Given the description of an element on the screen output the (x, y) to click on. 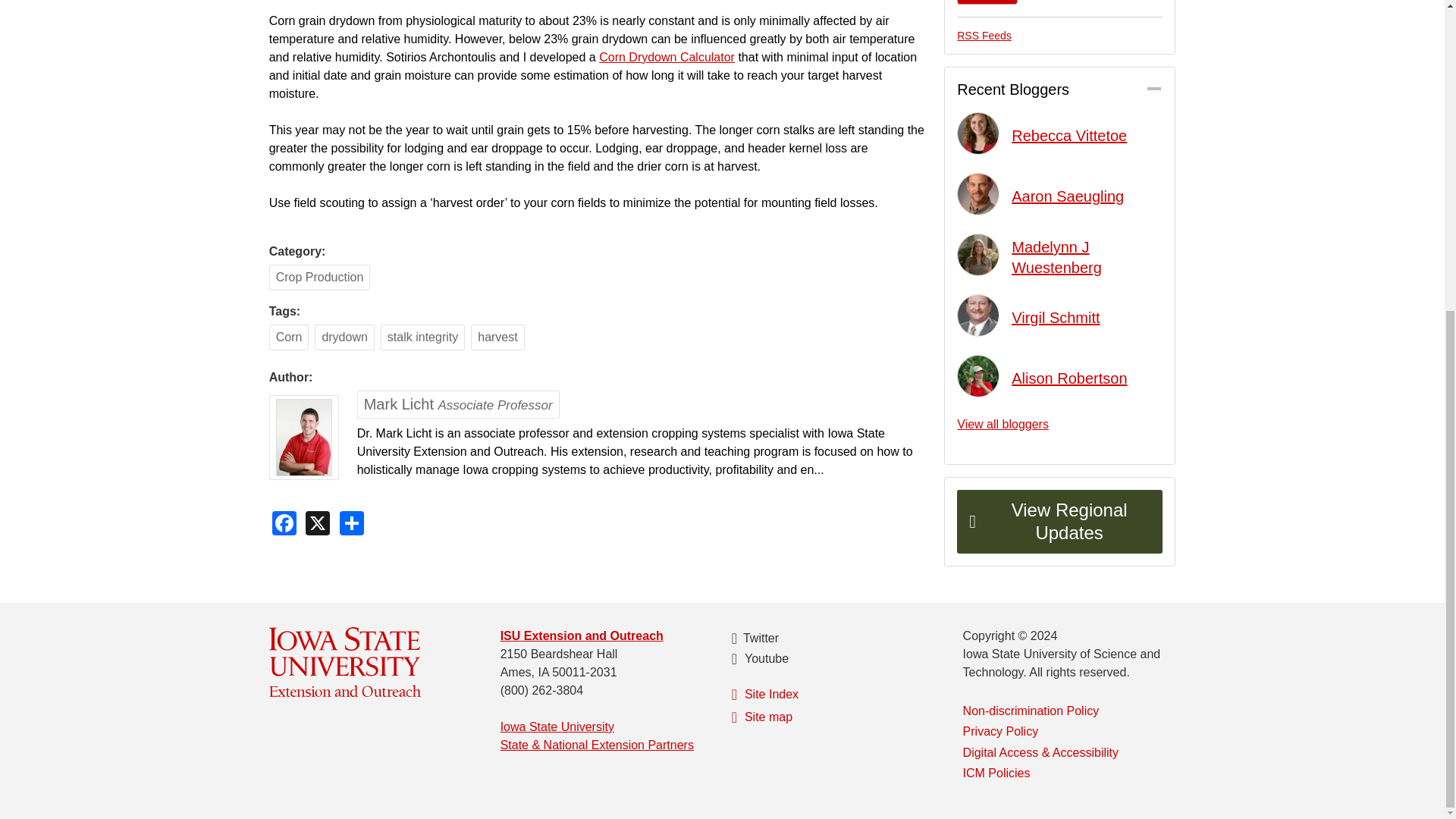
Subscribe (986, 2)
